Given the description of an element on the screen output the (x, y) to click on. 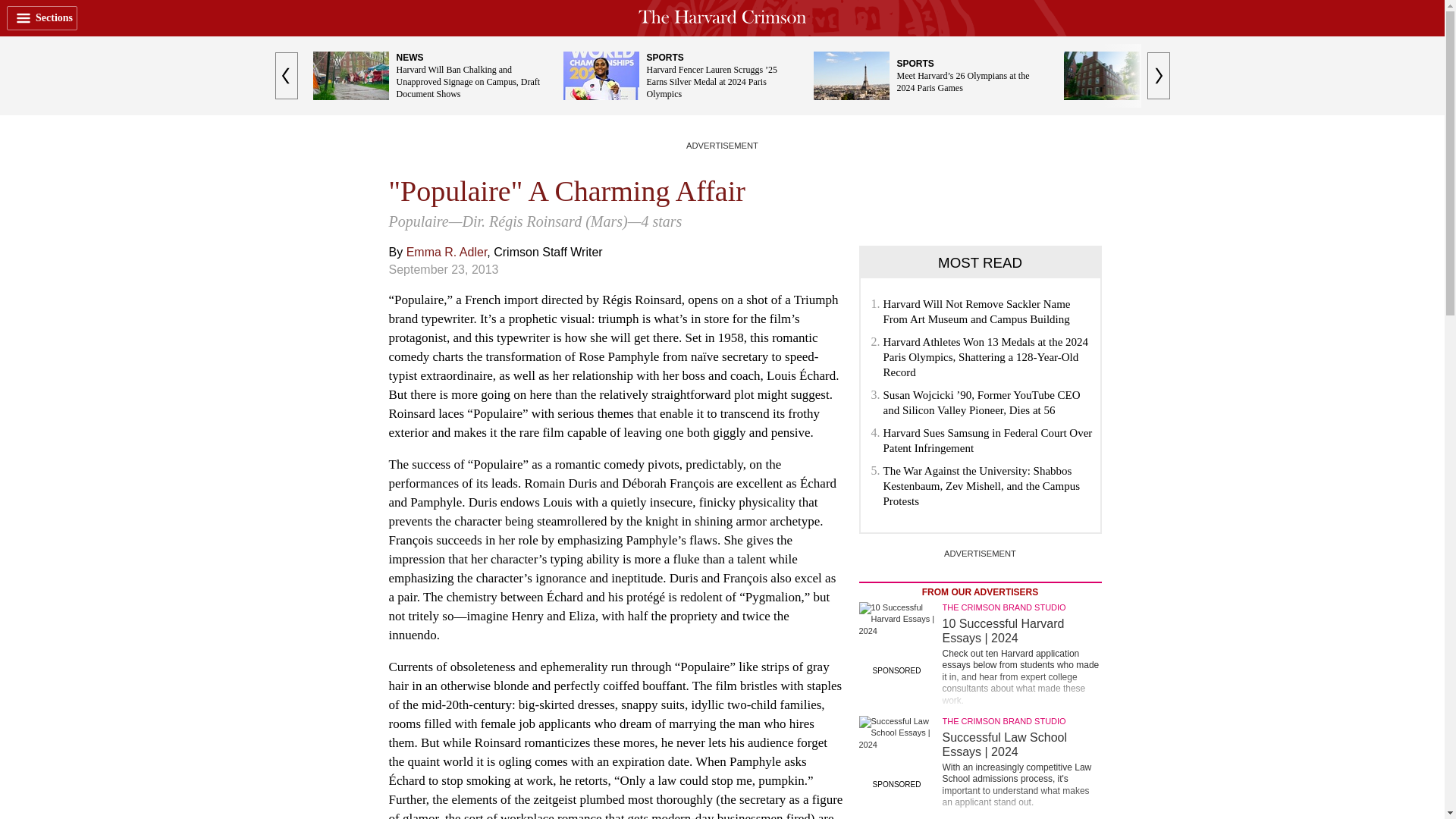
Updated September 23, 2013 at 3:30 am (442, 269)
Emma R. Adler (446, 251)
